Given the description of an element on the screen output the (x, y) to click on. 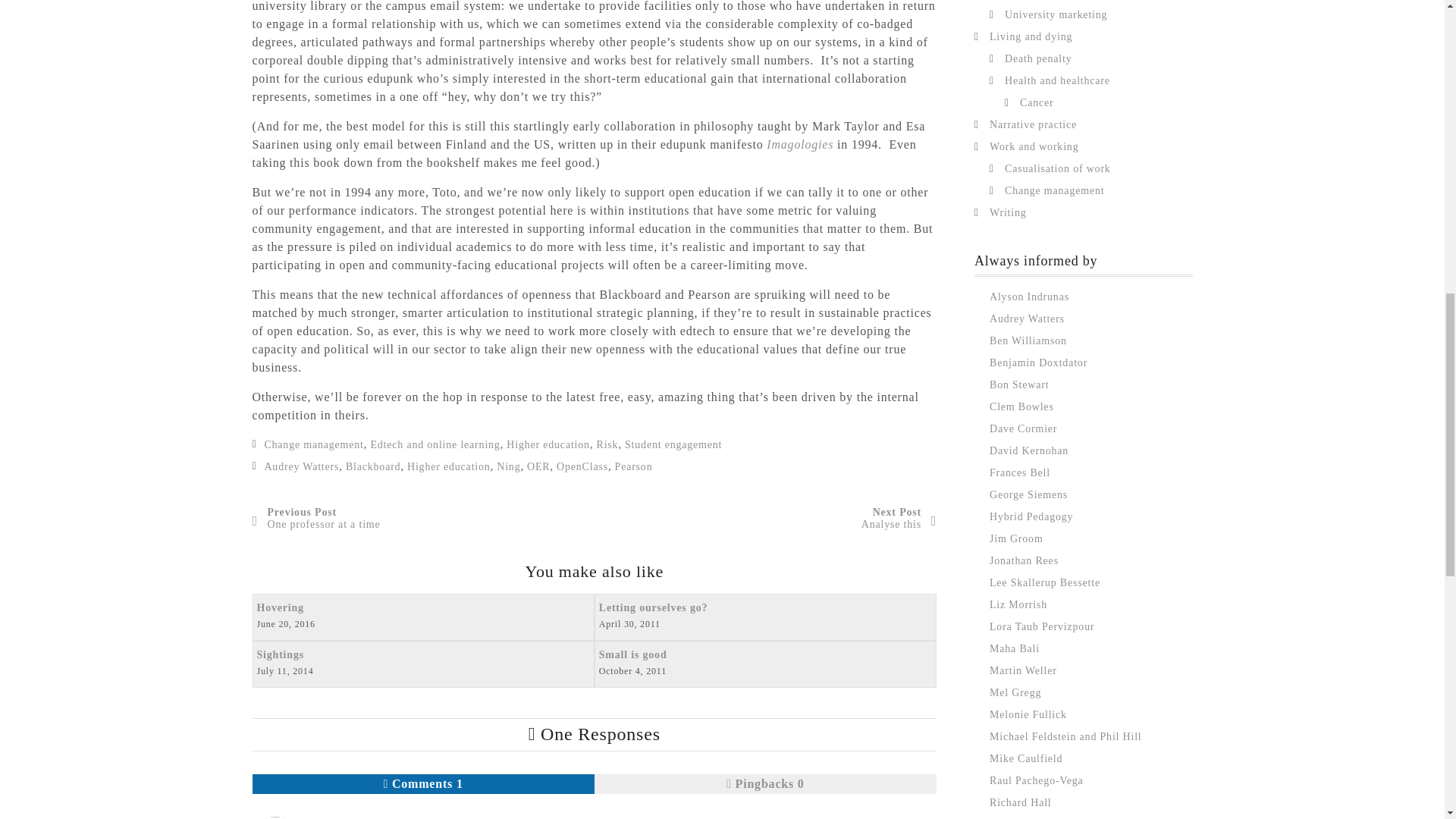
Blackboard (422, 617)
OER (373, 466)
Edtech and online learning (538, 466)
Higher education (434, 444)
Audrey Watters (448, 466)
Comments 1 (301, 466)
Ning (422, 783)
Pingbacks 0 (507, 466)
Imagologies (765, 783)
